Given the description of an element on the screen output the (x, y) to click on. 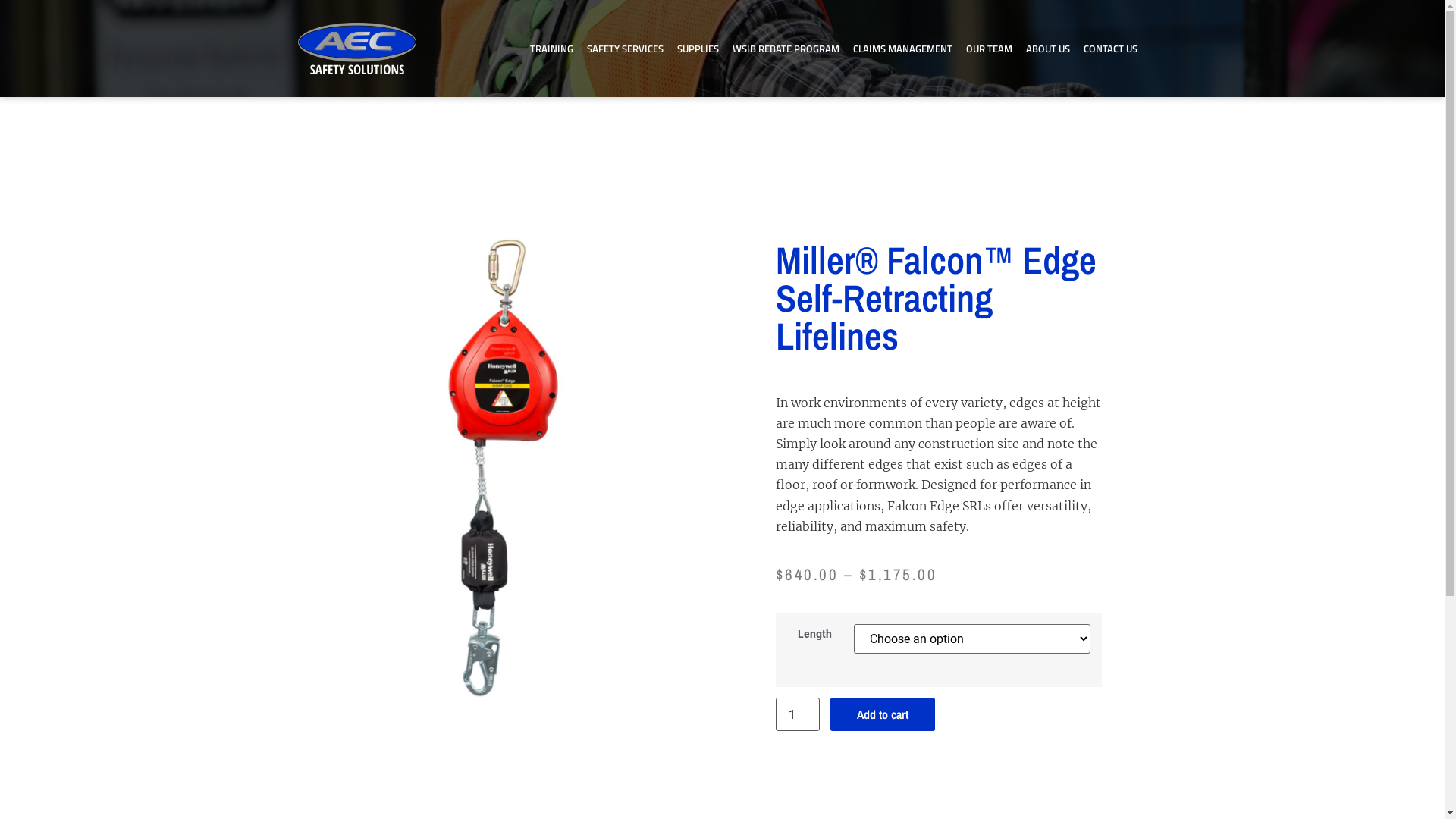
TRAINING Element type: text (551, 48)
CONTACT US Element type: text (1110, 48)
miller-falcon-edge-self-retracting-lifelines Element type: hover (505, 470)
CLAIMS MANAGEMENT Element type: text (902, 48)
SAFETY SERVICES Element type: text (625, 48)
SUPPLIES Element type: text (697, 48)
ABOUT US Element type: text (1047, 48)
Add to cart Element type: text (882, 714)
OUR TEAM Element type: text (989, 48)
WSIB REBATE PROGRAM Element type: text (785, 48)
